Given the description of an element on the screen output the (x, y) to click on. 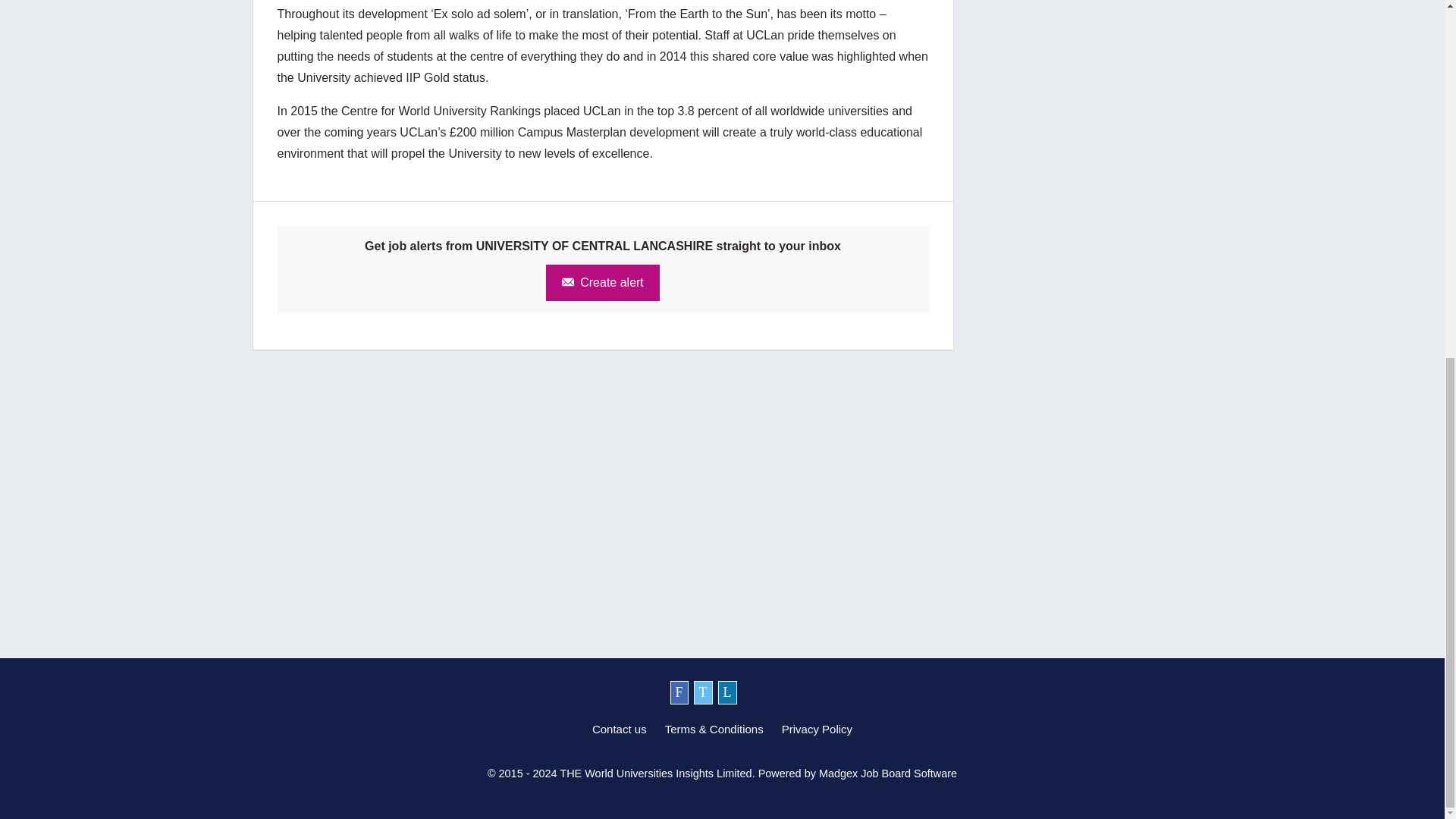
Privacy Policy (816, 728)
Contact us (619, 728)
Create alert (602, 282)
